Given the description of an element on the screen output the (x, y) to click on. 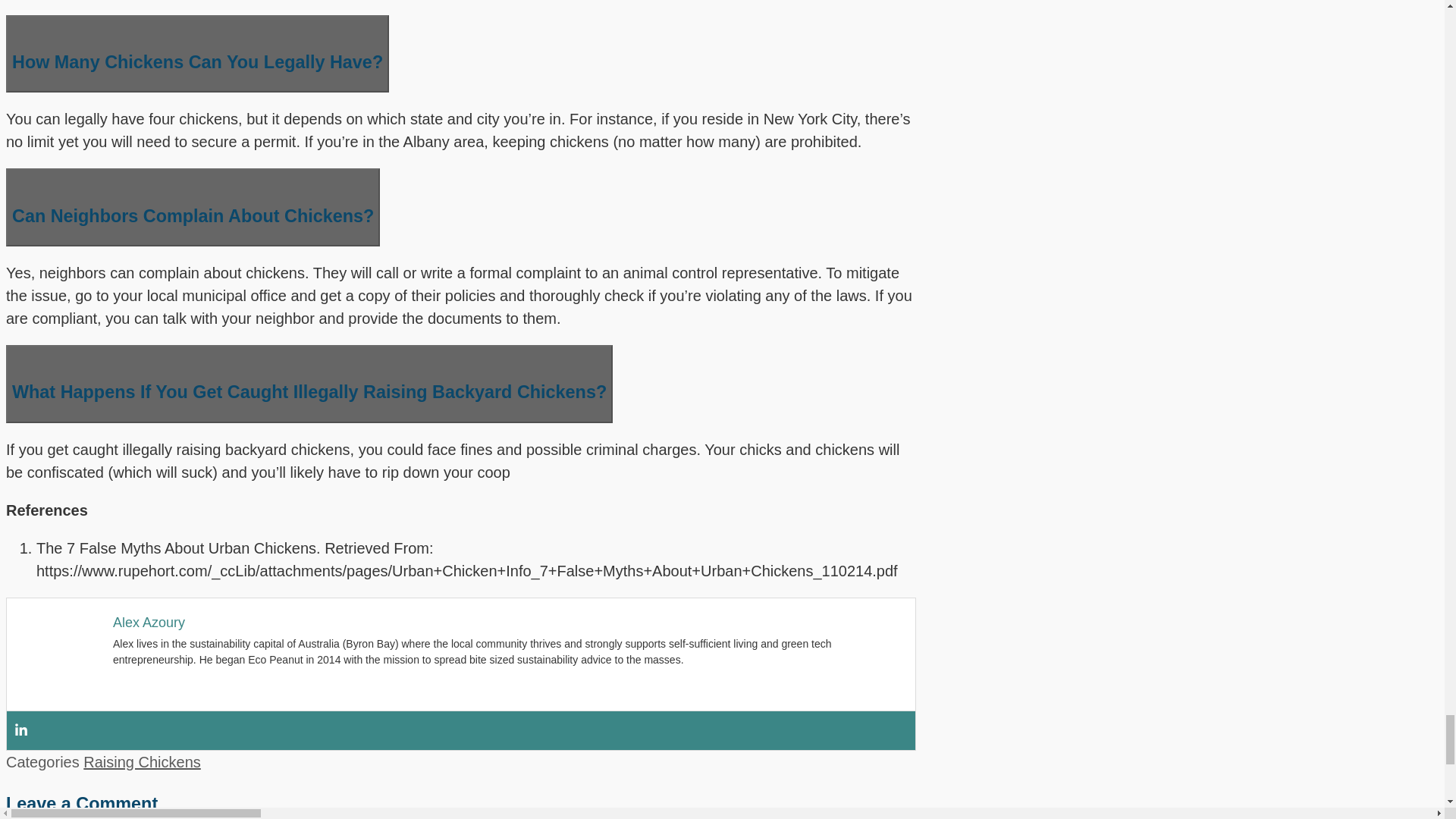
How Many Chickens Can You Legally Have? (196, 54)
Raising Chickens (141, 761)
Can Neighbors Complain About Chickens? (192, 207)
Alex Azoury (148, 622)
